Given the description of an element on the screen output the (x, y) to click on. 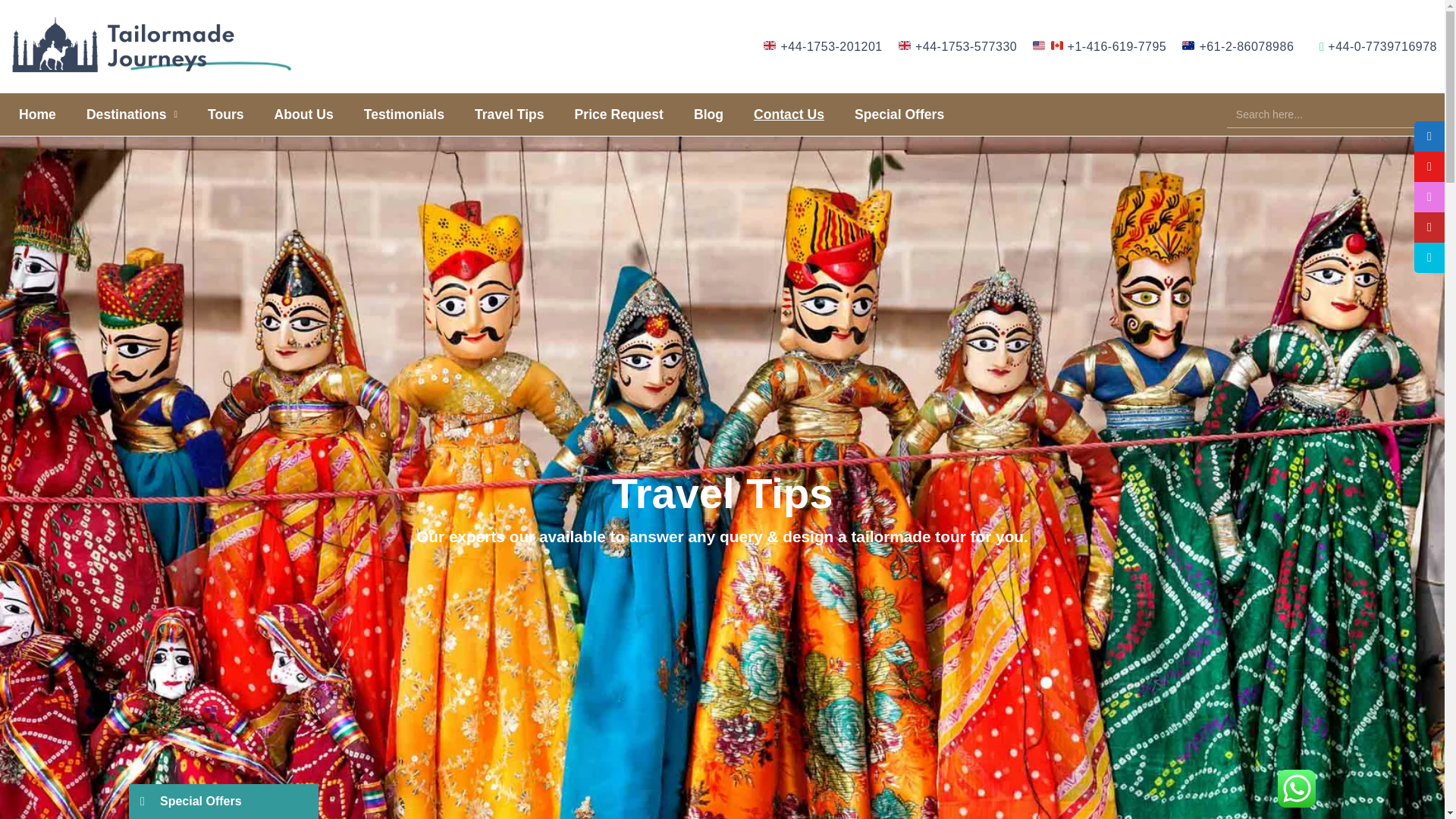
Price Request (618, 114)
Blog (708, 114)
Home (37, 114)
Testimonials (404, 114)
Contact Us (789, 114)
Travel Tips (509, 114)
Special Offers (899, 114)
Tours (225, 114)
About Us (304, 114)
Destinations (131, 114)
